Given the description of an element on the screen output the (x, y) to click on. 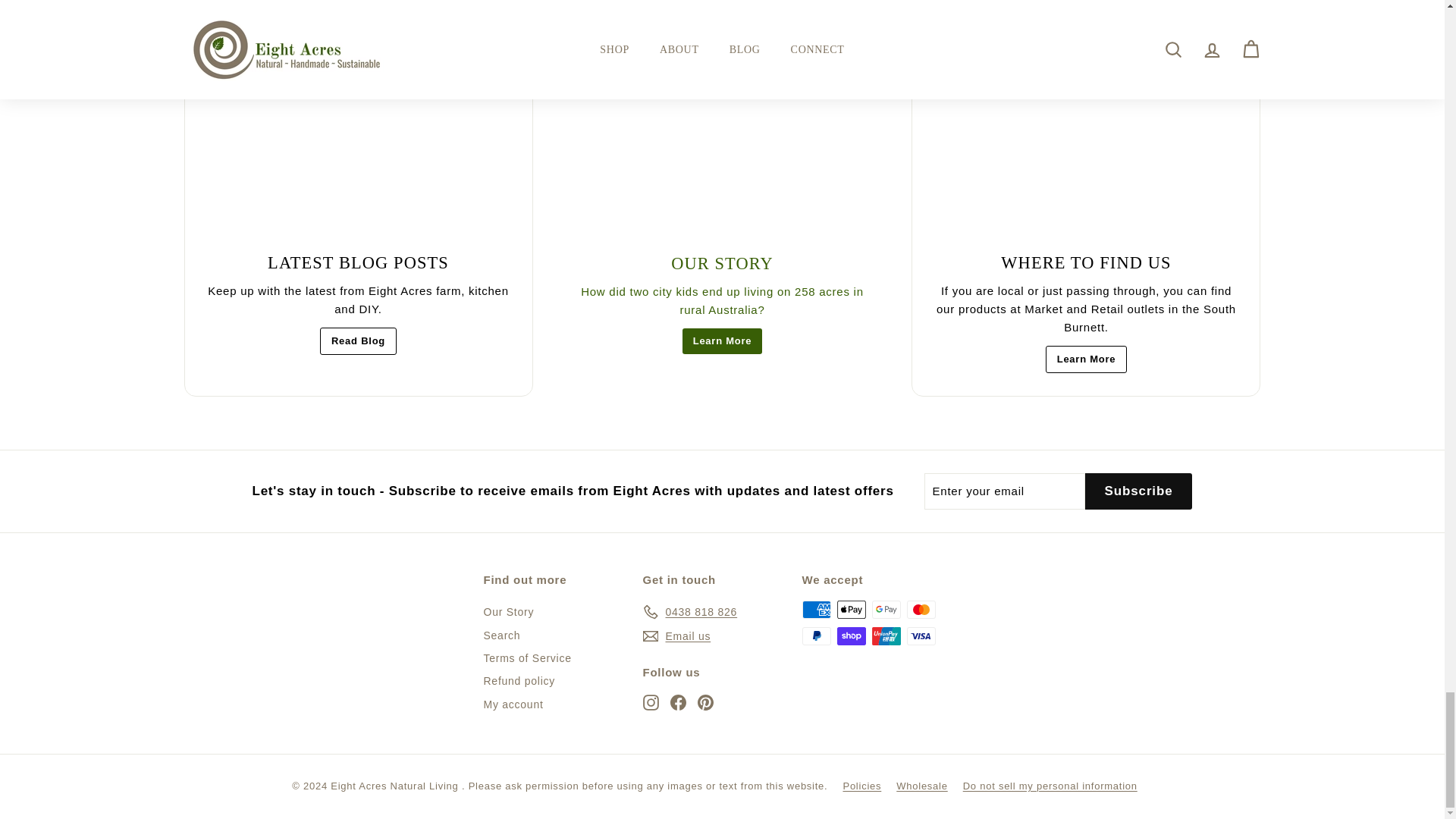
American Express (816, 609)
Mastercard (921, 609)
Apple Pay (851, 609)
Google Pay (886, 609)
